Given the description of an element on the screen output the (x, y) to click on. 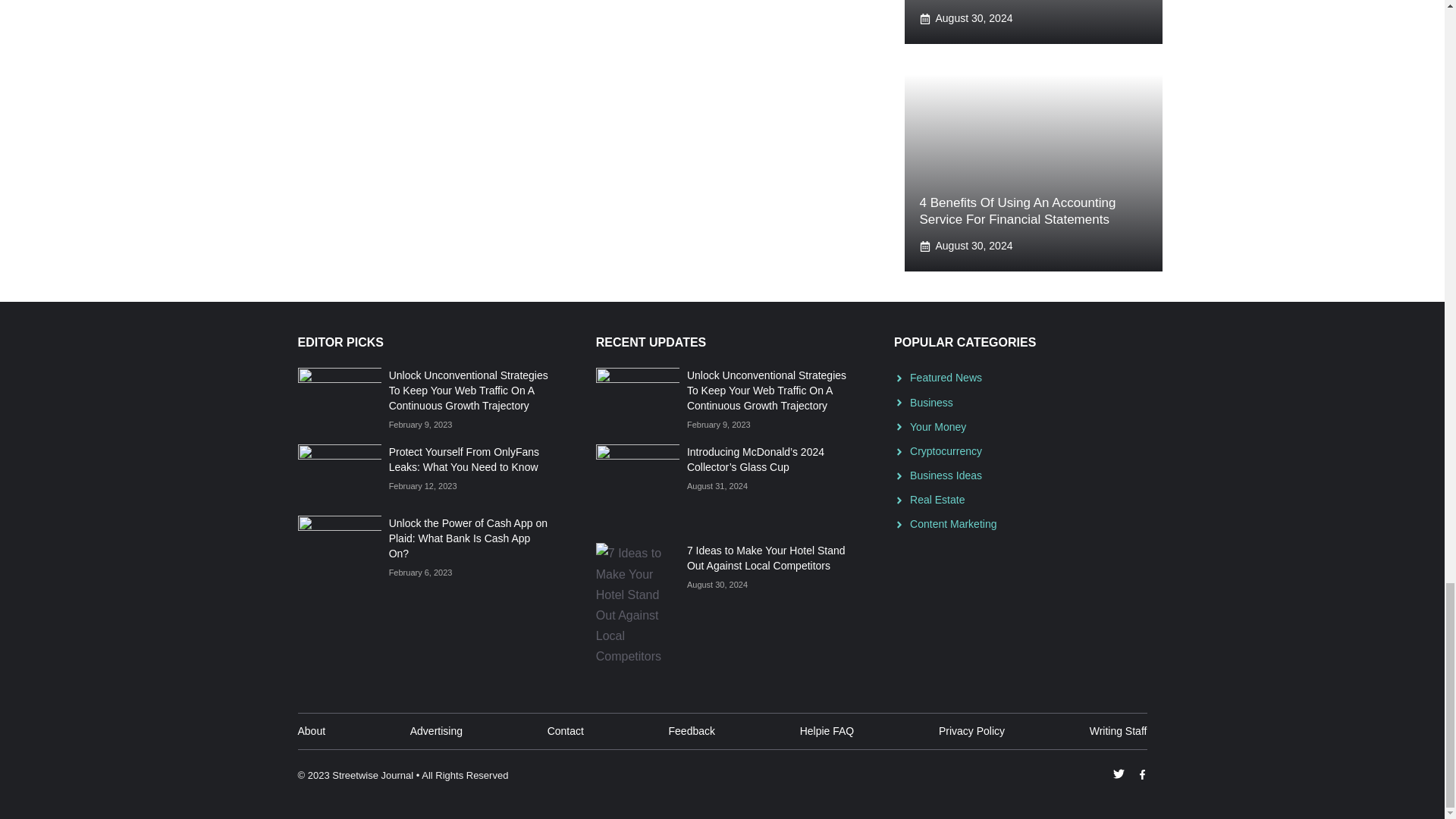
Business (931, 402)
Featured News (945, 377)
Protect Yourself From OnlyFans Leaks: What You Need to Know (463, 459)
